Given the description of an element on the screen output the (x, y) to click on. 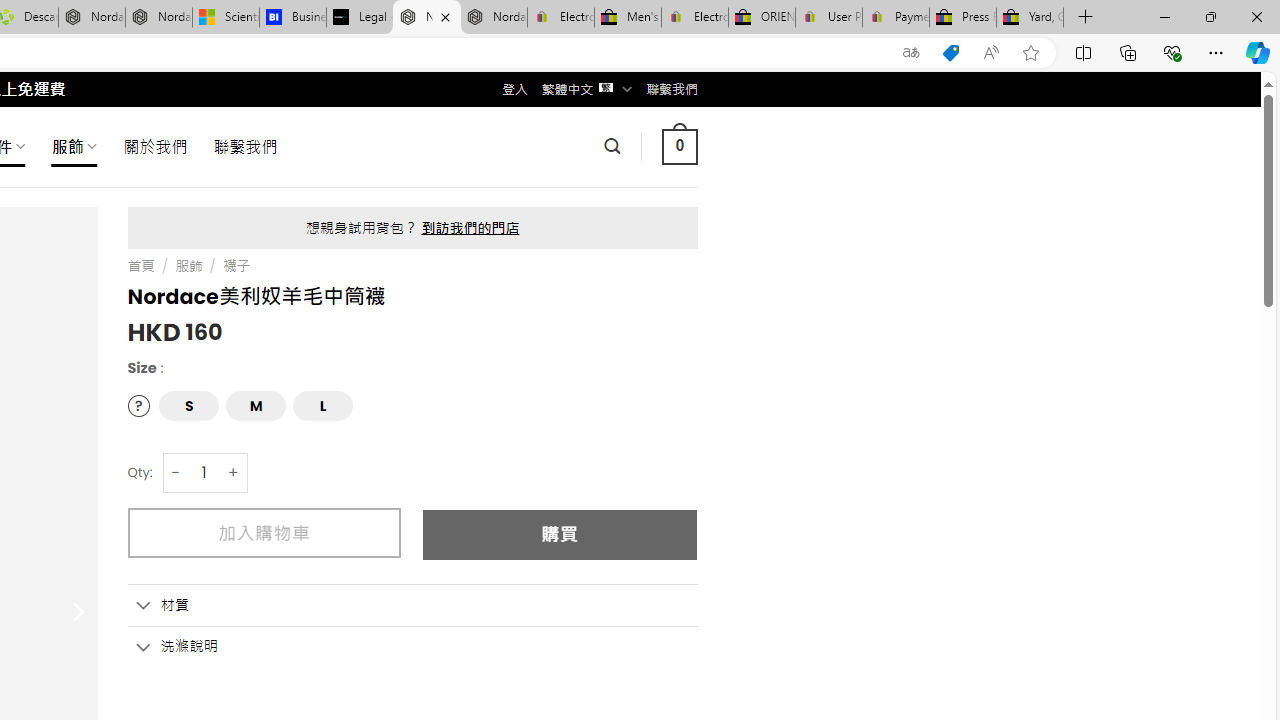
Nordace - Summer Adventures 2024 (91, 17)
User Privacy Notice | eBay (828, 17)
